Given the description of an element on the screen output the (x, y) to click on. 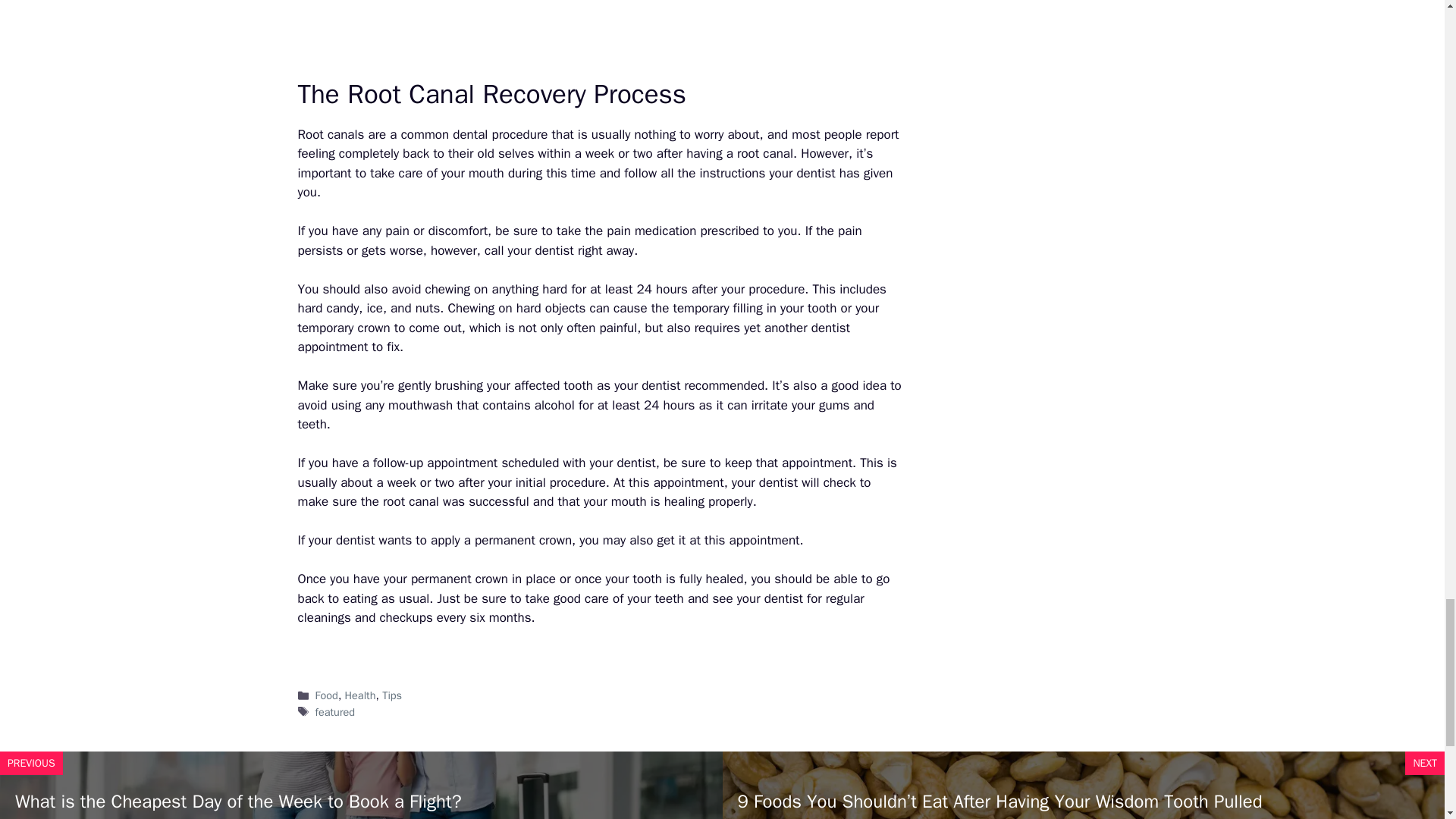
Health (360, 694)
What is the Cheapest Day of the Week to Book a Flight? (237, 801)
things to eat after a root canal - Answers For Everyone (600, 31)
Tips (391, 694)
Food (326, 694)
featured (335, 712)
